Given the description of an element on the screen output the (x, y) to click on. 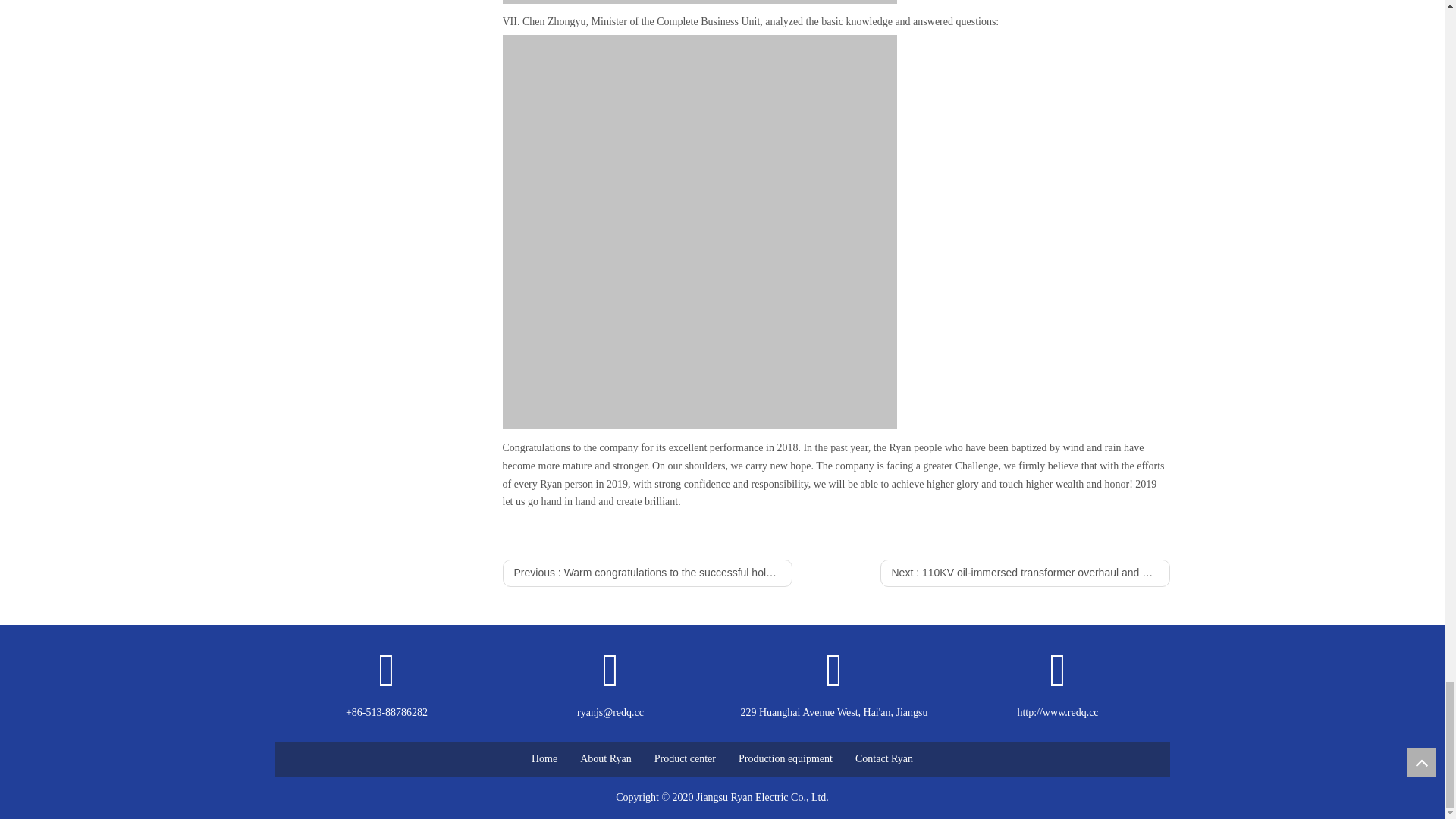
Home (544, 758)
Product center (684, 758)
About Ryan (605, 758)
Contact Ryan (884, 758)
About Ryan (605, 758)
Production equipment (785, 758)
Home (544, 758)
